Given the description of an element on the screen output the (x, y) to click on. 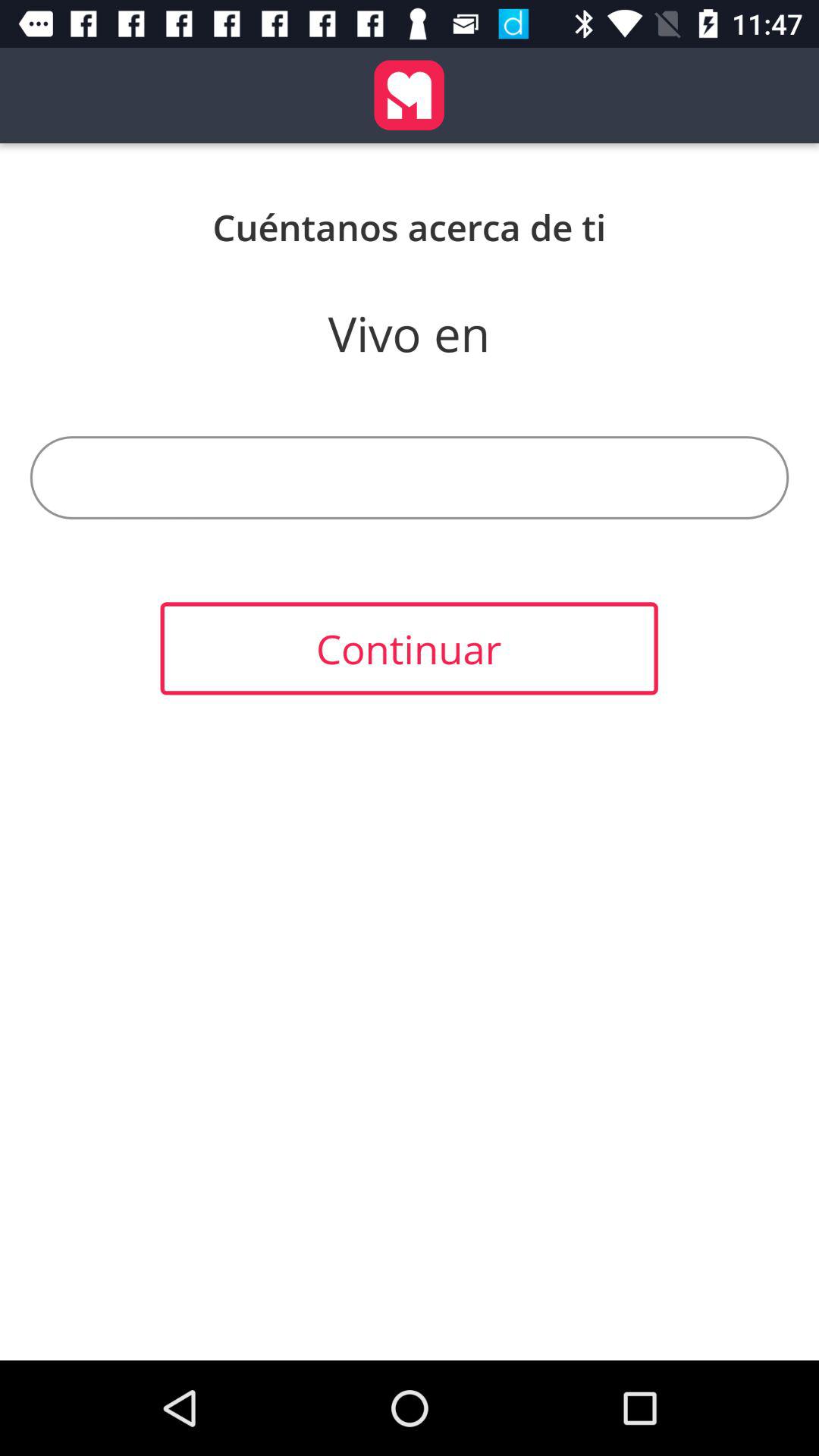
turn on the icon below vivo en icon (409, 477)
